Given the description of an element on the screen output the (x, y) to click on. 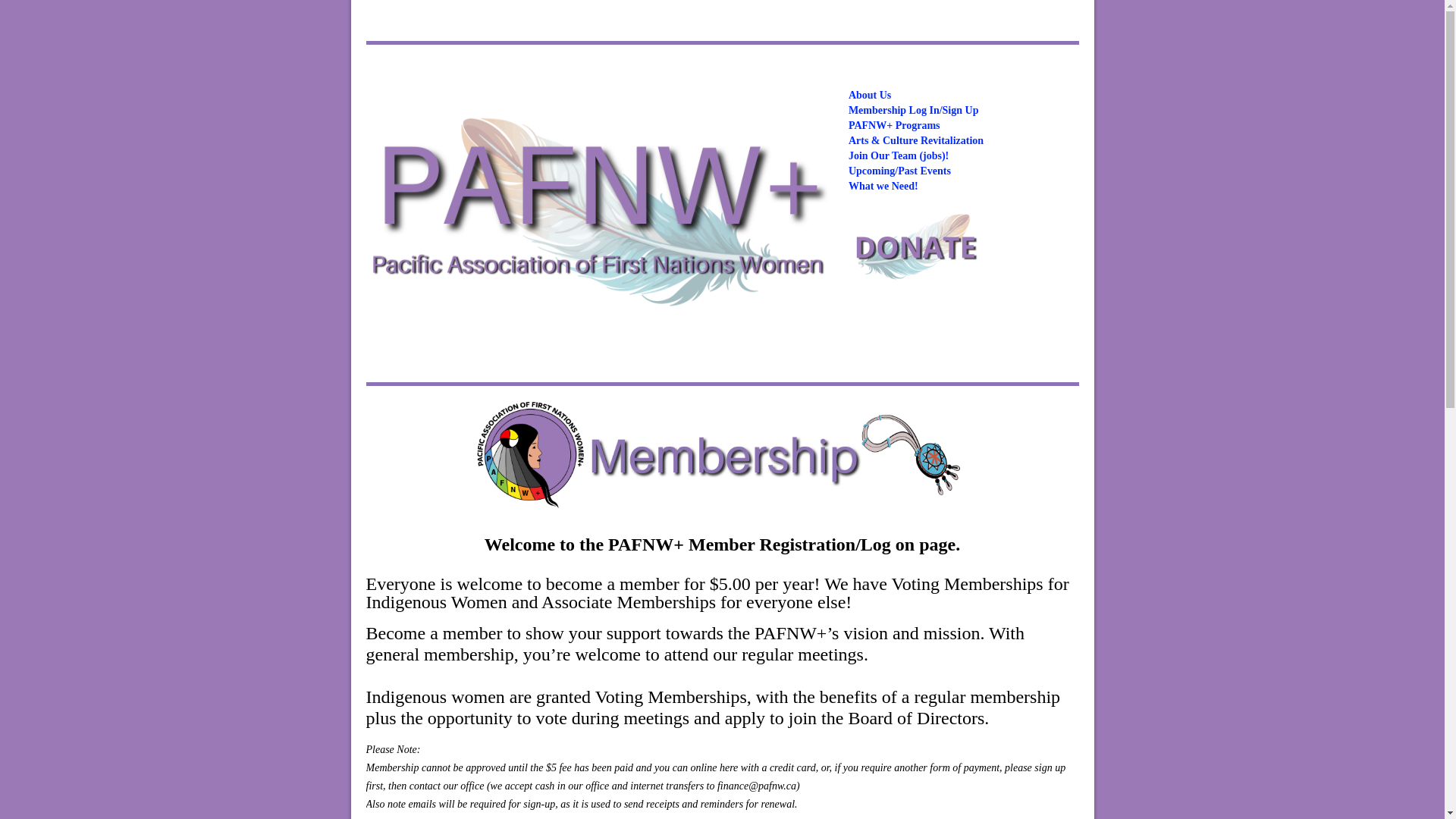
What we Need! (883, 185)
About Us (869, 94)
